Given the description of an element on the screen output the (x, y) to click on. 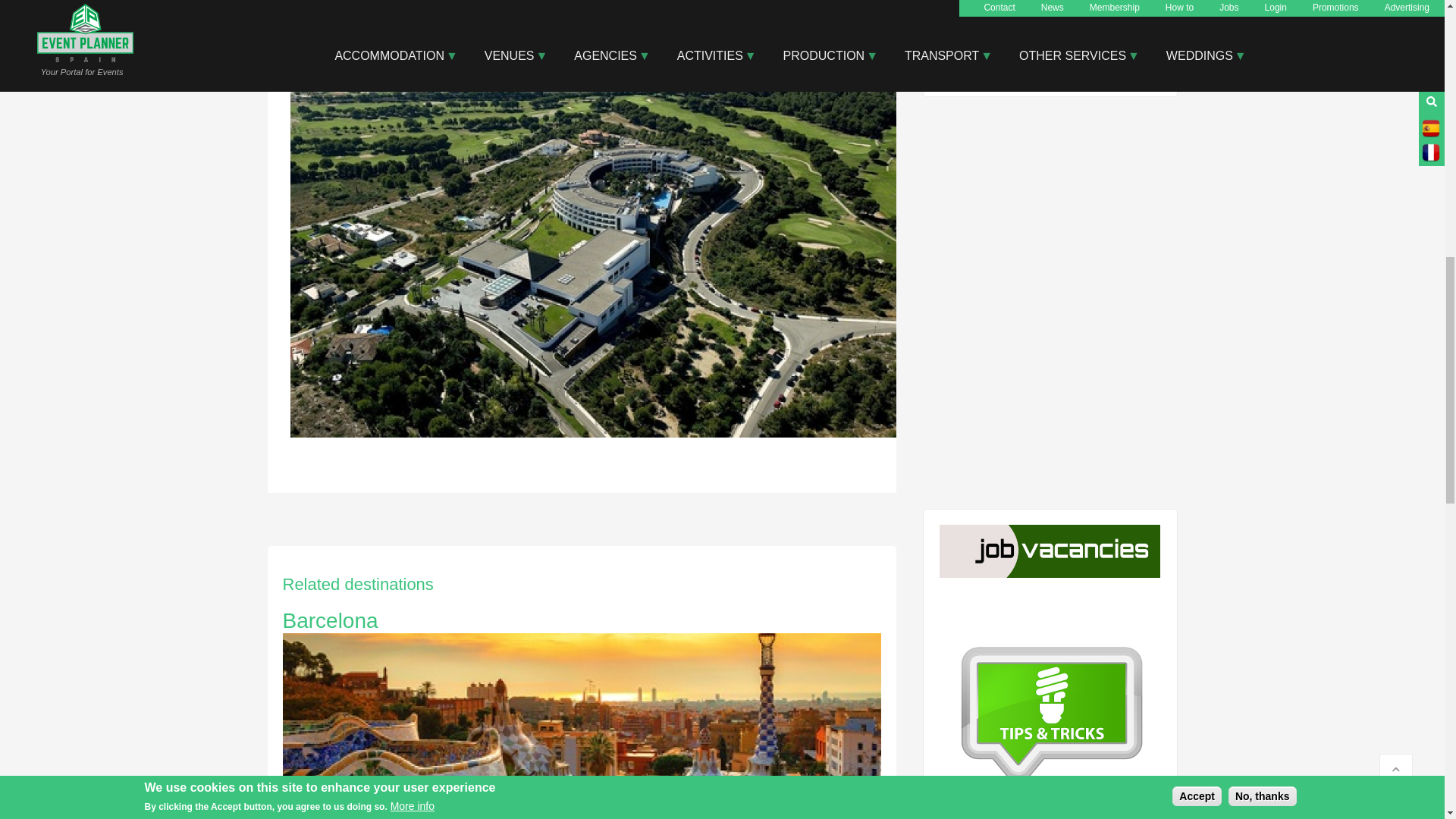
Hotel Dolce Sitges (592, 433)
